Given the description of an element on the screen output the (x, y) to click on. 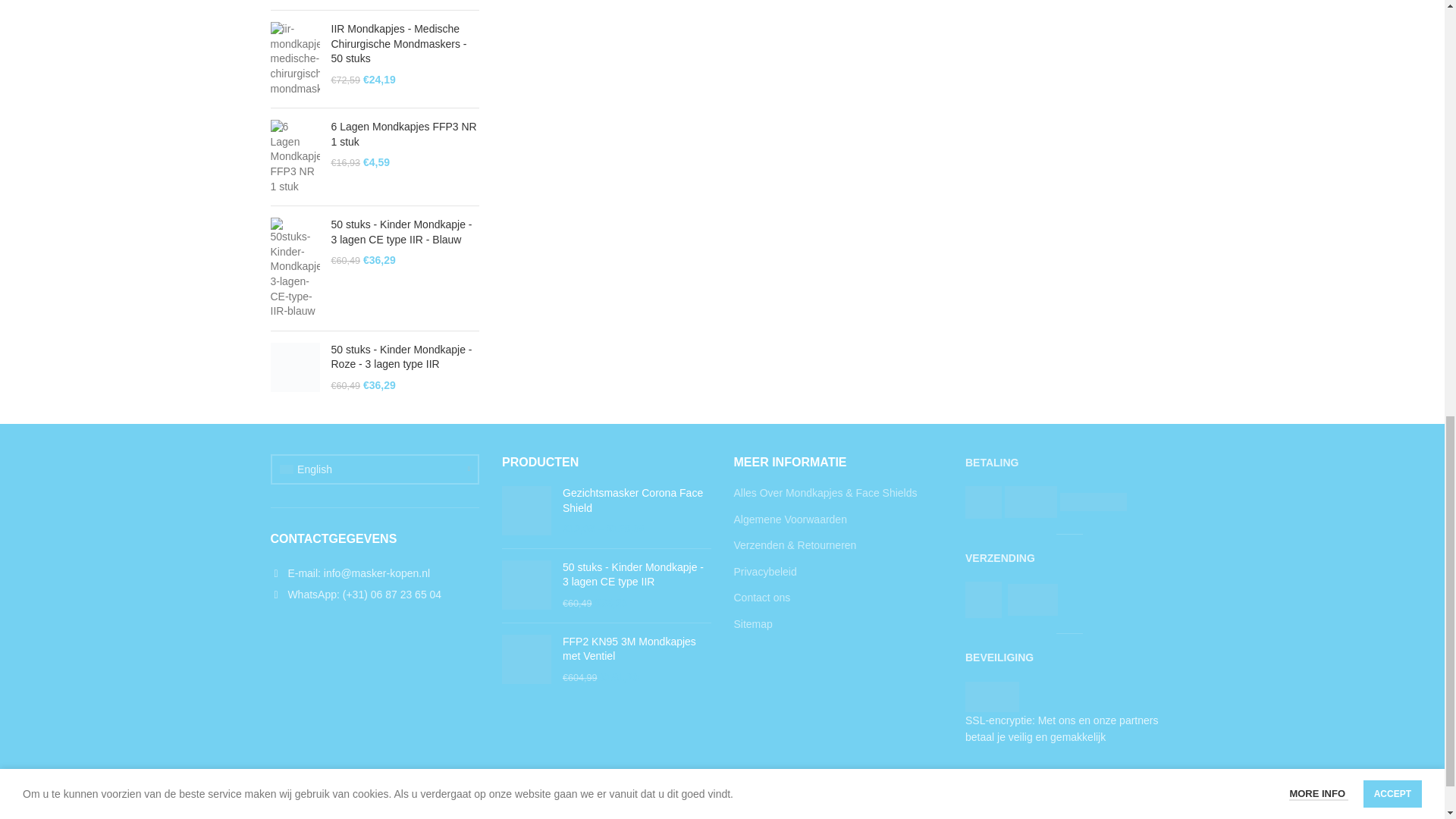
50 stuks - Kinder Mondkapje - Roze - 3 lagen type IIR (404, 357)
50 stuks - Kinder Mondkapje - 3 lagen CE type IIR - Blauw (404, 232)
6 Lagen Mondkapjes FFP3 NR 1 stuk (404, 134)
6 Lagen Mondkapjes FFP3 NR 1 stuk (404, 134)
